Given the description of an element on the screen output the (x, y) to click on. 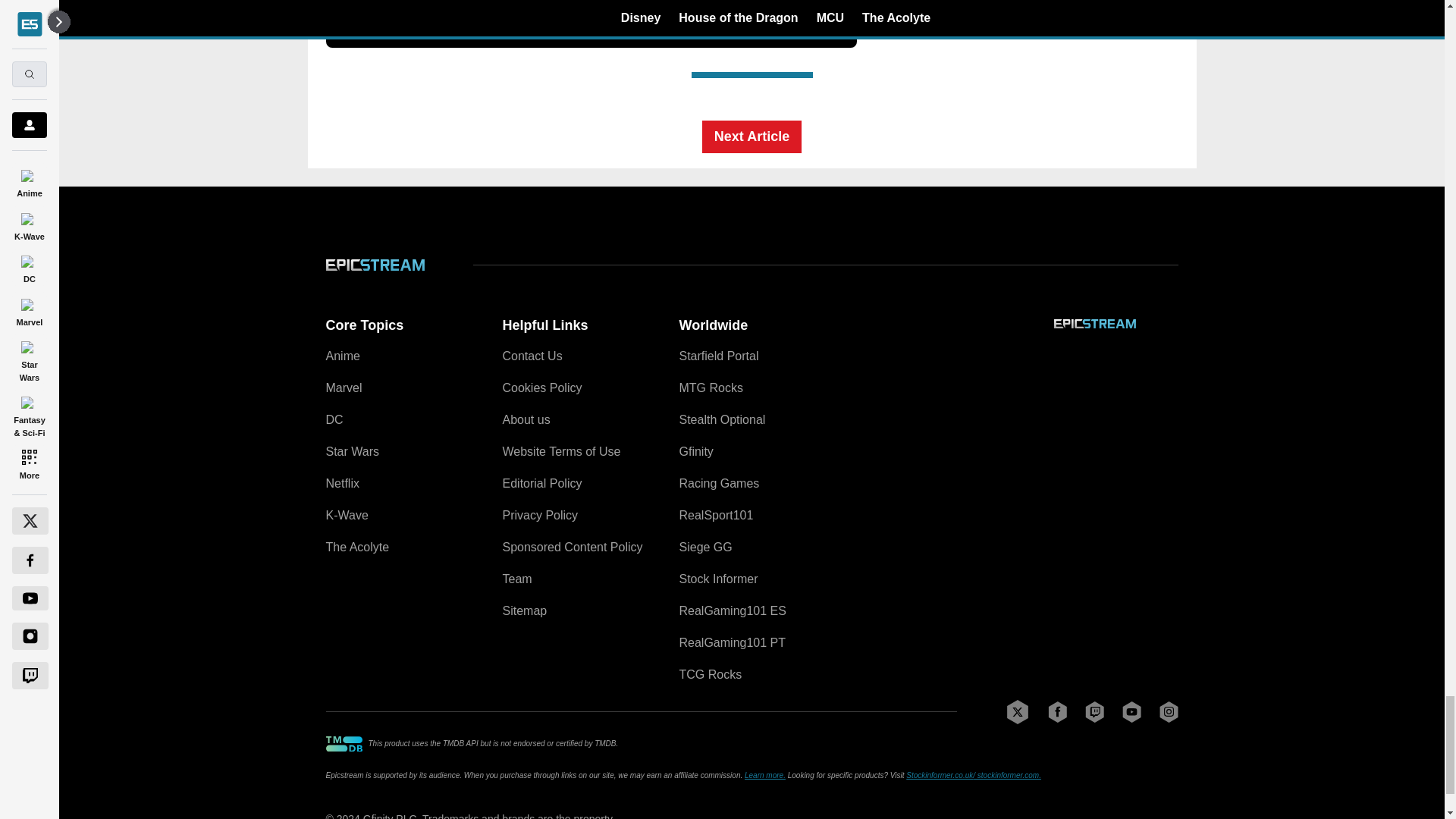
Latest News (1063, 23)
